Given the description of an element on the screen output the (x, y) to click on. 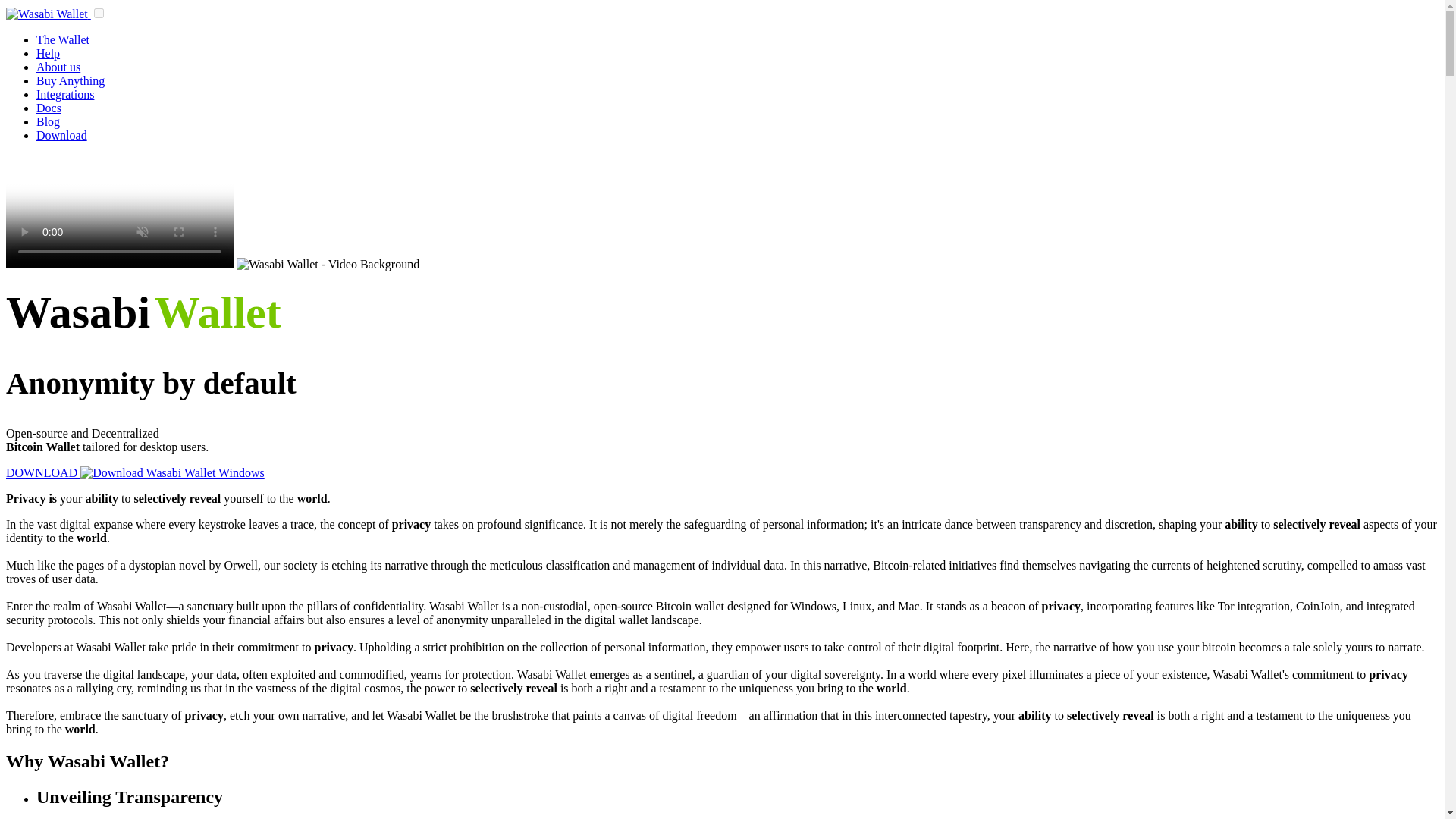
on (98, 13)
The Wallet (62, 39)
Help (47, 52)
About us (58, 66)
DOWNLOAD (134, 472)
Download (61, 134)
Blog (47, 121)
Docs (48, 107)
Buy Anything (70, 80)
Integrations (65, 93)
